Given the description of an element on the screen output the (x, y) to click on. 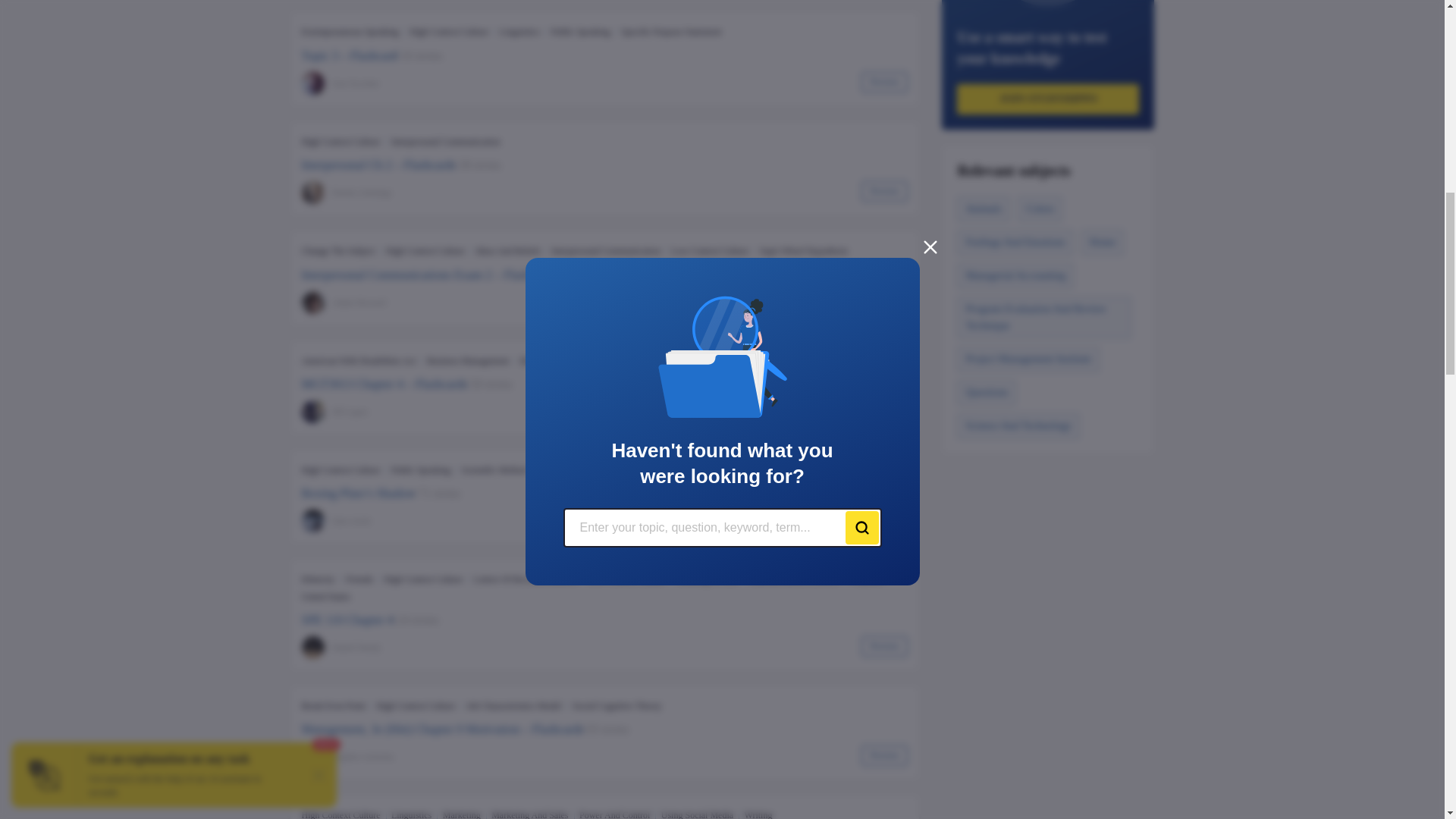
SPE 110 Chapter 4 24 terms (604, 619)
